Given the description of an element on the screen output the (x, y) to click on. 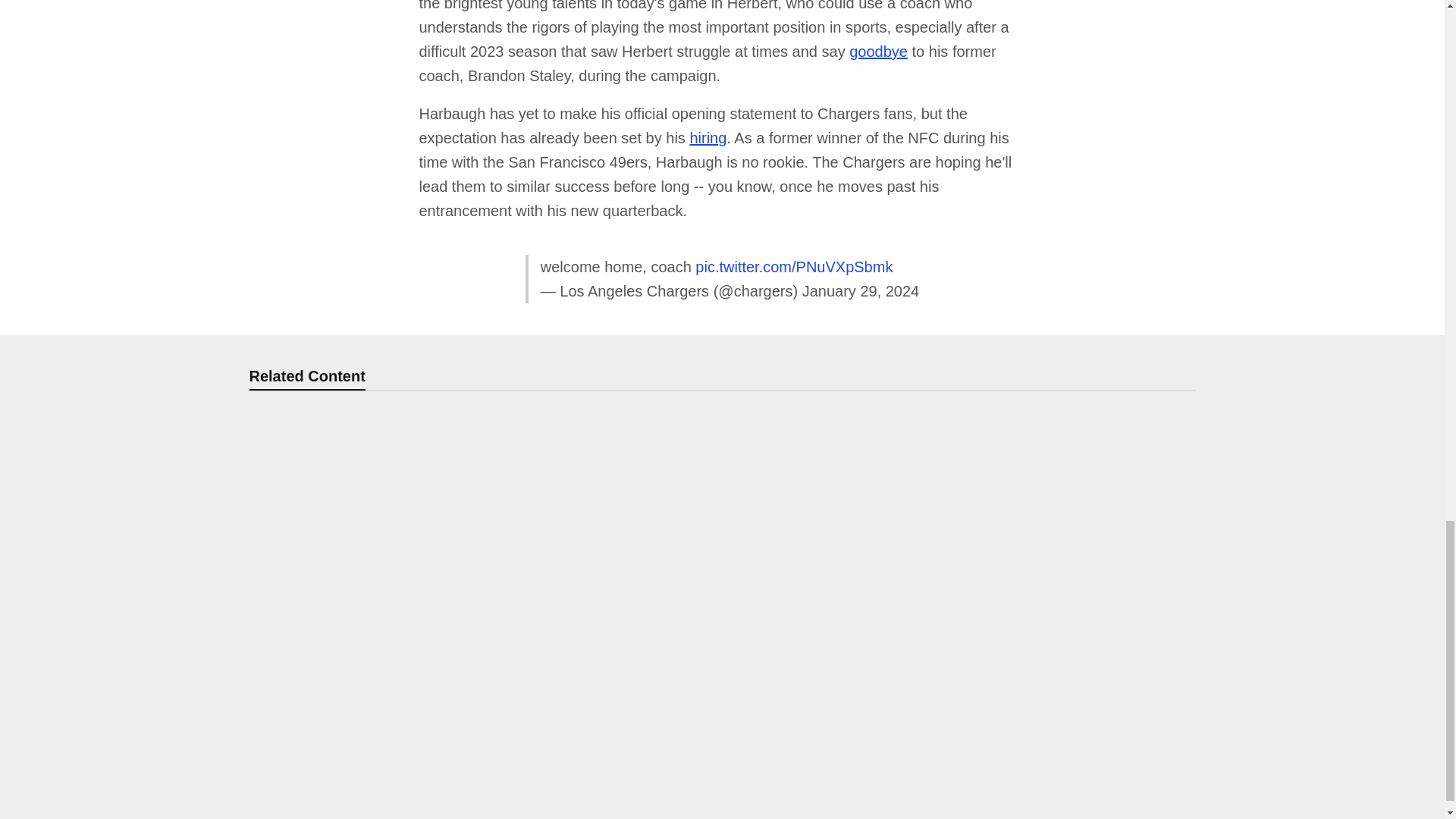
January 29, 2024 (861, 290)
goodbye (877, 51)
hiring (707, 137)
